Given the description of an element on the screen output the (x, y) to click on. 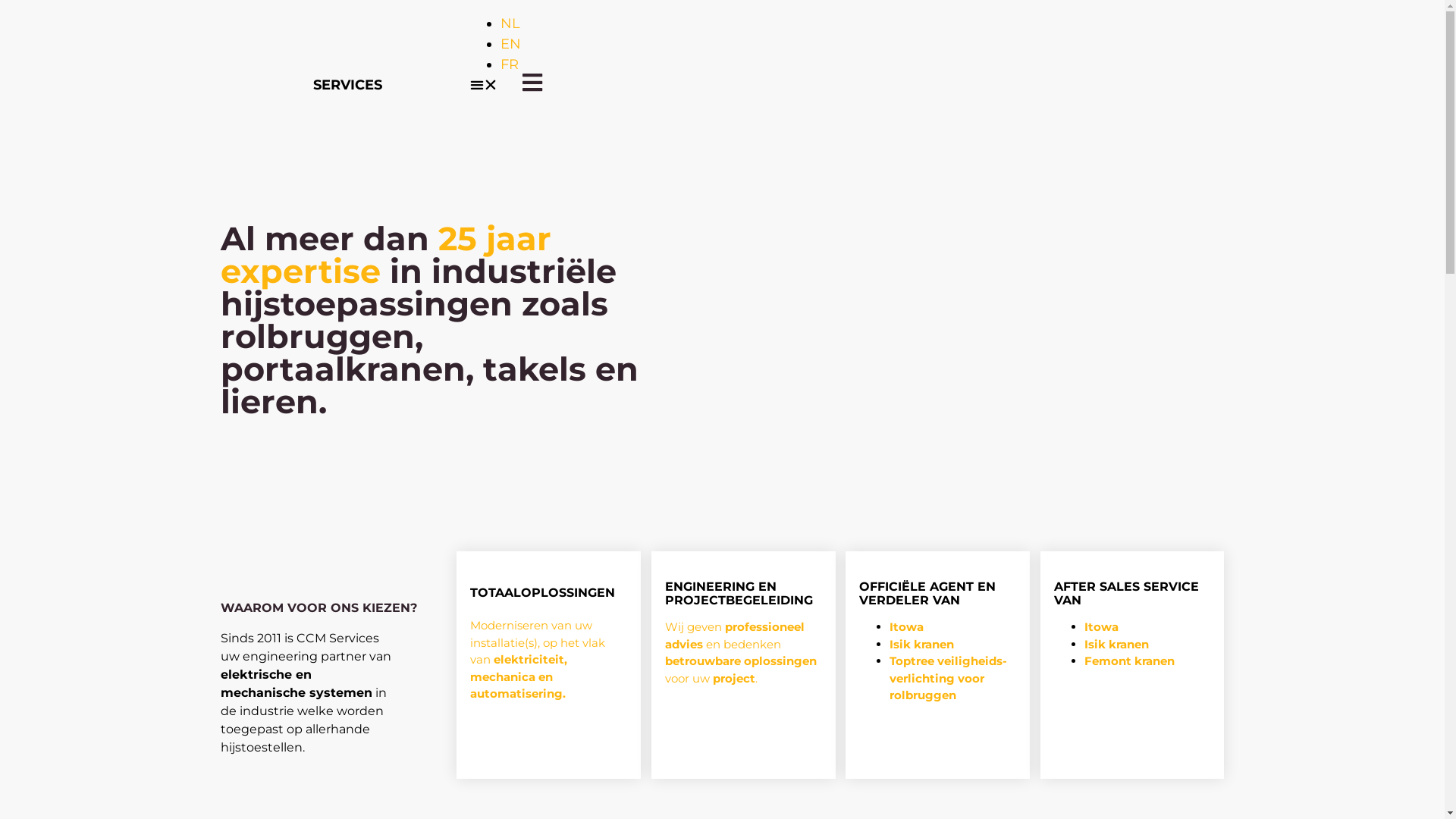
NL Element type: text (510, 105)
Isik kranen Element type: text (921, 644)
NL Element type: text (510, 23)
Isik kranen Element type: text (1116, 644)
FR Element type: text (509, 64)
EN Element type: text (510, 43)
EN Element type: text (510, 125)
Itowa Element type: text (1101, 626)
Itowa Element type: text (906, 626)
FR Element type: text (509, 146)
Toptree veiligheids-verlichting voor rolbruggen Element type: text (948, 677)
Femont kranen Element type: text (1129, 660)
